Given the description of an element on the screen output the (x, y) to click on. 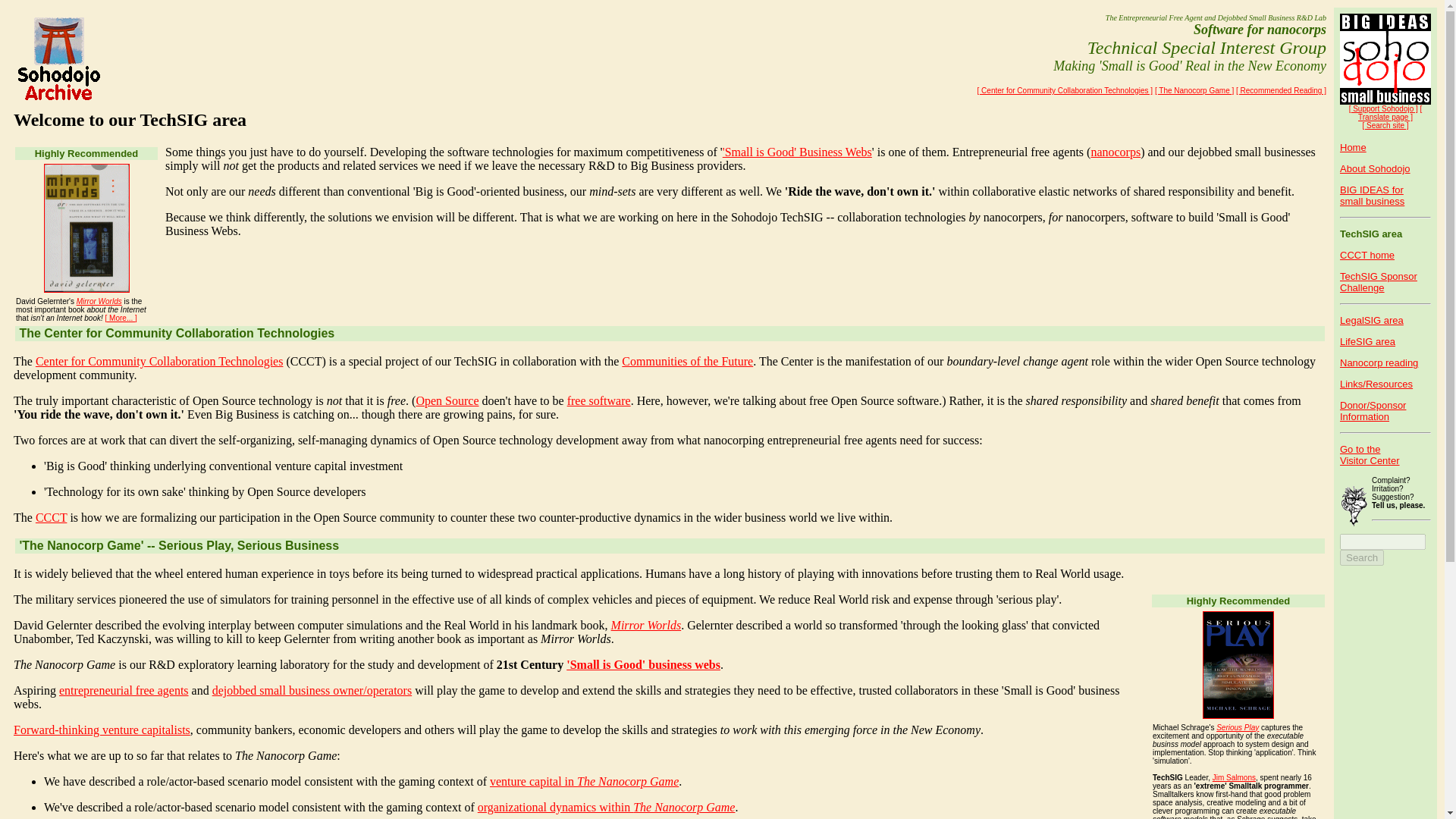
Visit the Life Special Interest Group (1366, 341)
CCCT (50, 517)
Info about our innovative sponsor program (1377, 282)
'Small is Good' business webs (643, 664)
venture capital in The Nanocorp Game (583, 780)
Communities of the Future (686, 360)
Center for Community Collaboration Technologies (158, 360)
Mirror Worlds (99, 301)
Open Source (446, 400)
Mirror Worlds (646, 625)
free software (598, 400)
Jim Salmons (1233, 777)
Serious Play (1237, 727)
entrepreneurial free agents (124, 689)
